Given the description of an element on the screen output the (x, y) to click on. 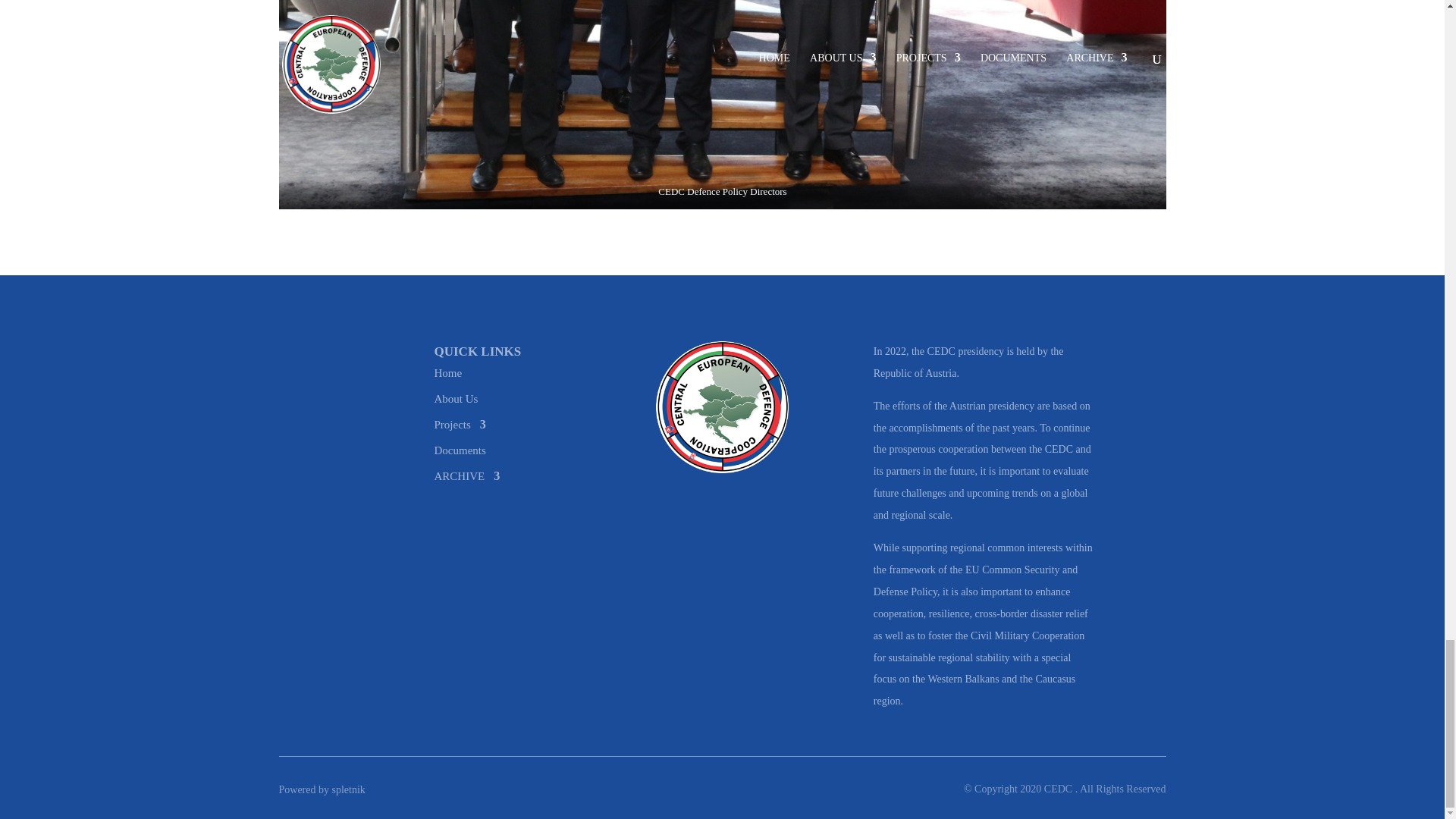
Home (447, 370)
Projects (458, 421)
About Us (455, 395)
